Given the description of an element on the screen output the (x, y) to click on. 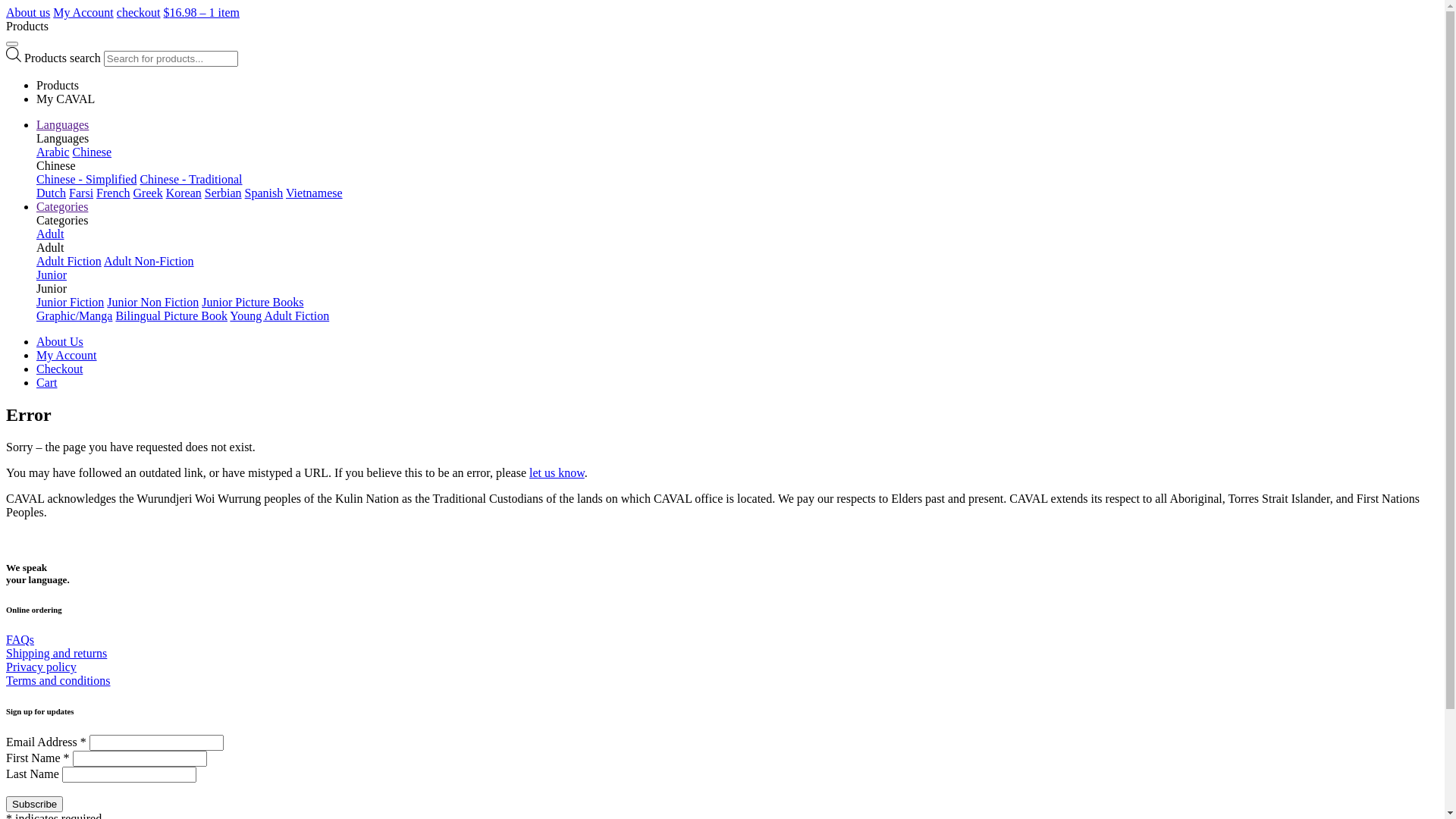
Adult Non-Fiction Element type: text (148, 260)
My Account Element type: text (83, 12)
Greek Element type: text (148, 192)
Junior Non Fiction Element type: text (152, 301)
Serbian Element type: text (222, 192)
Subscribe Element type: text (34, 804)
Junior Picture Books Element type: text (252, 301)
About Us Element type: text (59, 341)
Young Adult Fiction Element type: text (279, 315)
Terms and conditions Element type: text (58, 680)
Chinese - Simplified Element type: text (86, 178)
About us Element type: text (28, 12)
My Account Element type: text (66, 354)
Bilingual Picture Book Element type: text (171, 315)
Chinese - Traditional Element type: text (190, 178)
Spanish Element type: text (263, 192)
Junior Fiction Element type: text (69, 301)
let us know Element type: text (556, 472)
FAQs Element type: text (20, 639)
Adult Fiction Element type: text (68, 260)
checkout Element type: text (138, 12)
Cart Element type: text (46, 382)
Checkout Element type: text (59, 368)
Privacy policy Element type: text (41, 666)
Dutch Element type: text (50, 192)
Categories Element type: text (61, 206)
Korean Element type: text (183, 192)
Arabic Element type: text (52, 151)
Graphic/Manga Element type: text (74, 315)
French Element type: text (112, 192)
Junior Element type: text (51, 274)
Farsi Element type: text (81, 192)
Vietnamese Element type: text (313, 192)
Shipping and returns Element type: text (56, 652)
Adult Element type: text (49, 233)
Chinese Element type: text (92, 151)
Languages Element type: text (62, 124)
